Given the description of an element on the screen output the (x, y) to click on. 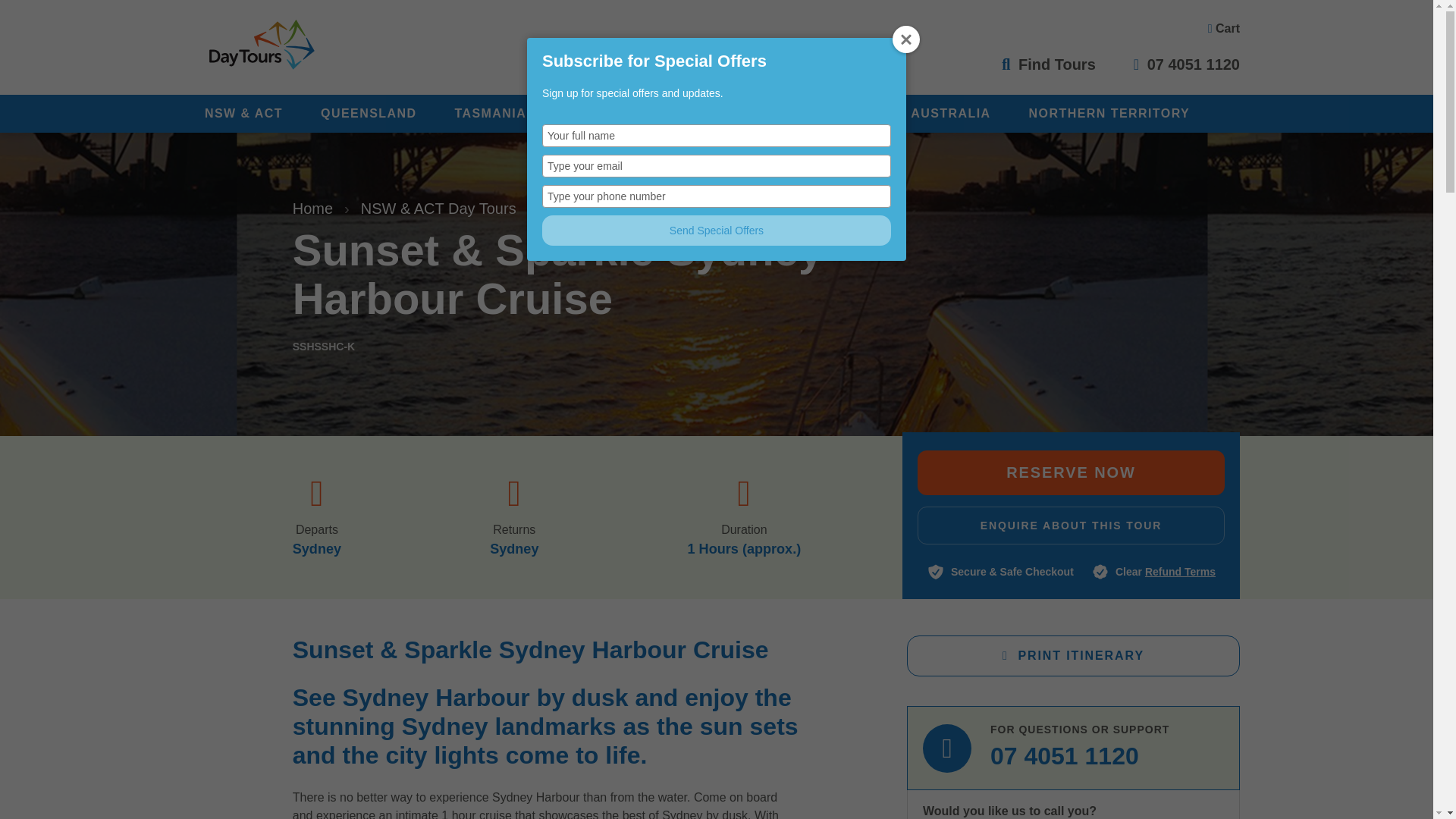
QUEENSLAND (368, 113)
07 4051 1120 (1187, 64)
VICTORIA (596, 113)
Cart (1224, 27)
TASMANIA (489, 113)
